Given the description of an element on the screen output the (x, y) to click on. 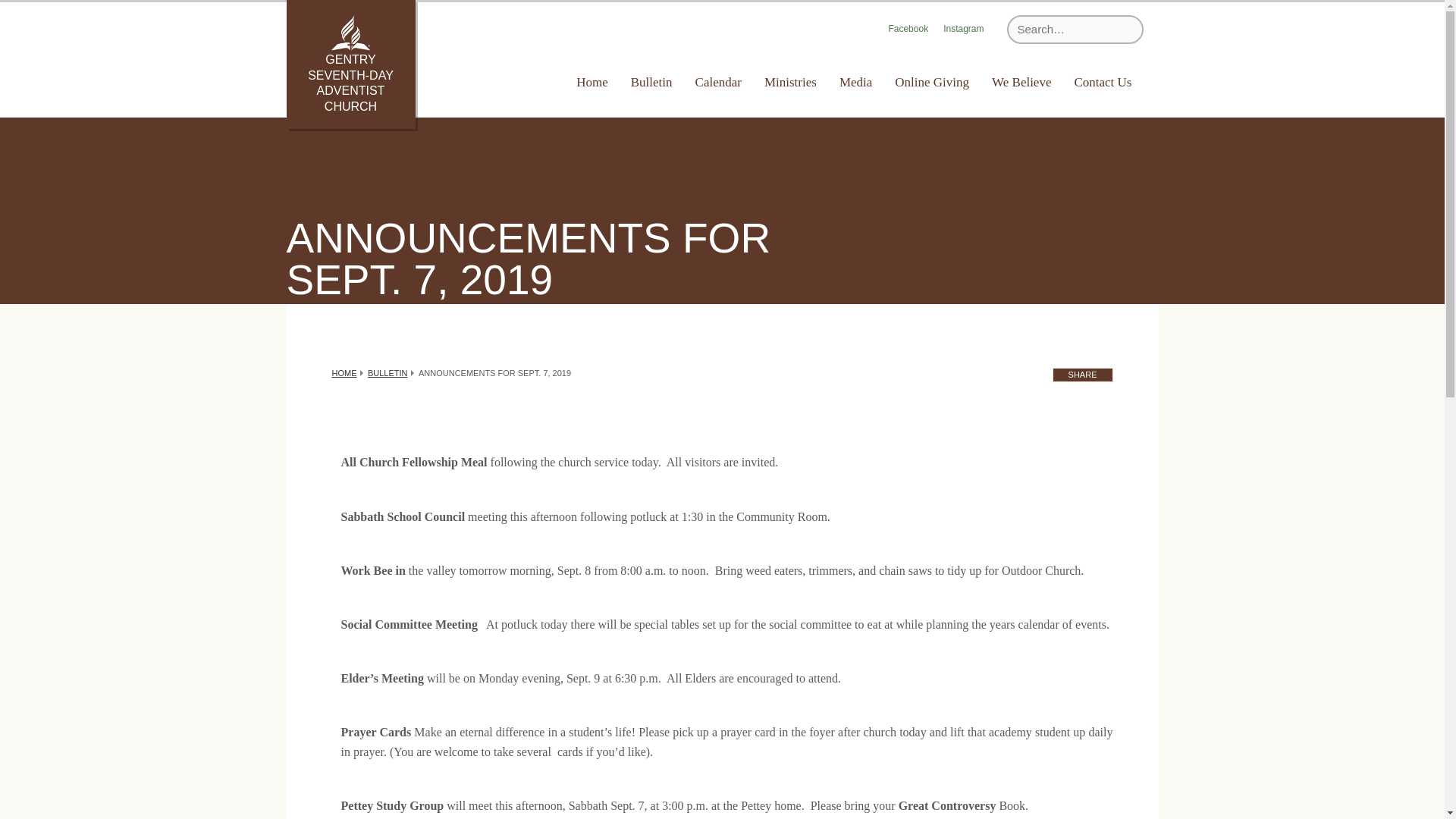
BULLETIN (387, 372)
Home (591, 82)
Instagram (963, 29)
We Believe (1021, 82)
SHARE (1082, 374)
Ministries (790, 82)
Bulletin (651, 82)
Online Giving (931, 82)
Facebook (908, 29)
HOME (343, 372)
Contact Us (1102, 82)
Calendar (718, 82)
Media (855, 82)
GENTRY SEVENTH-DAY ADVENTIST CHURCH (350, 64)
